Given the description of an element on the screen output the (x, y) to click on. 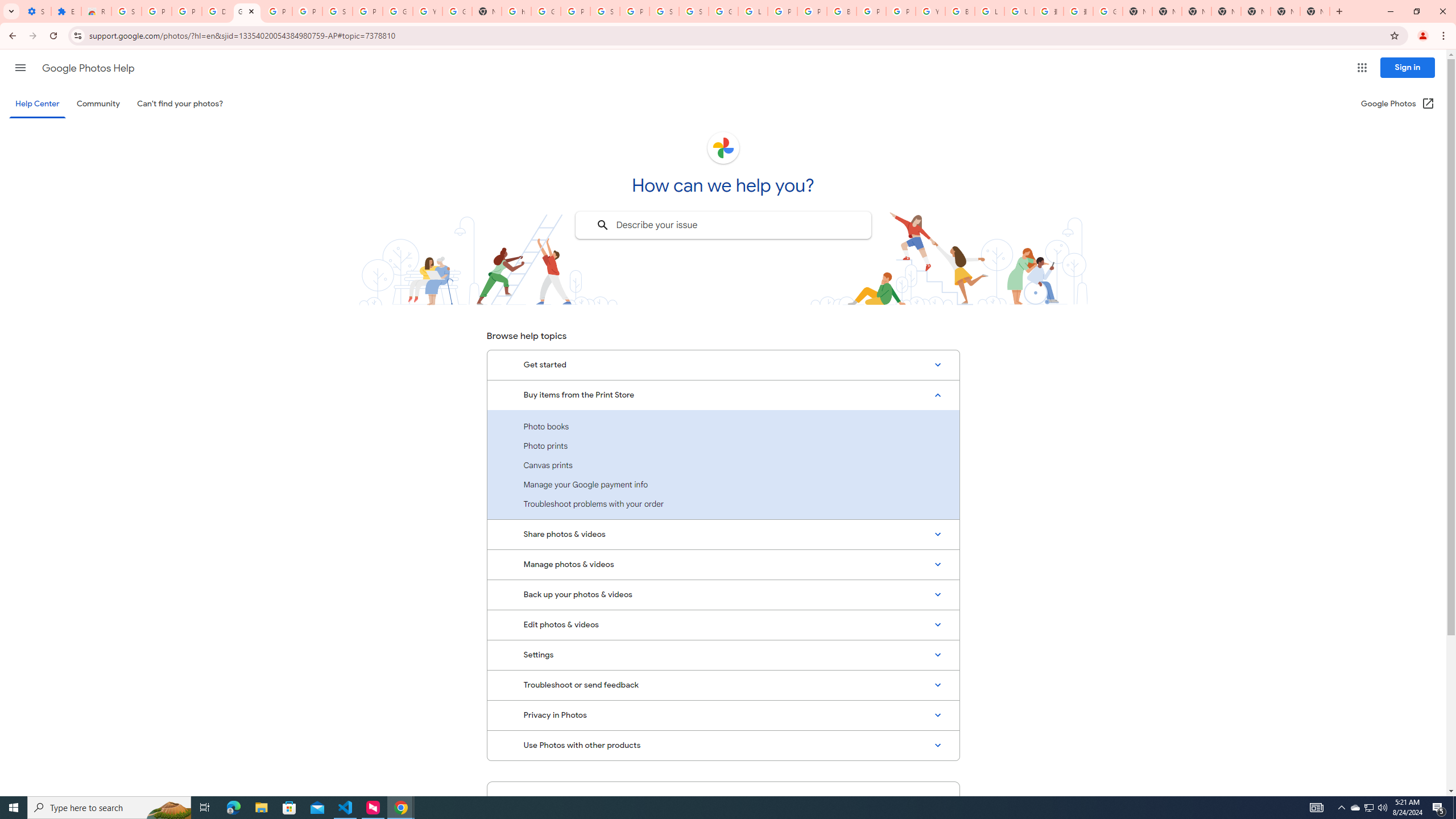
Sign in - Google Accounts (126, 11)
Back up your photos & videos (722, 594)
Sign in - Google Accounts (337, 11)
Privacy Help Center - Policies Help (811, 11)
Reviews: Helix Fruit Jump Arcade Game (95, 11)
Google Images (1107, 11)
https://scholar.google.com/ (515, 11)
Photo prints (722, 445)
